Given the description of an element on the screen output the (x, y) to click on. 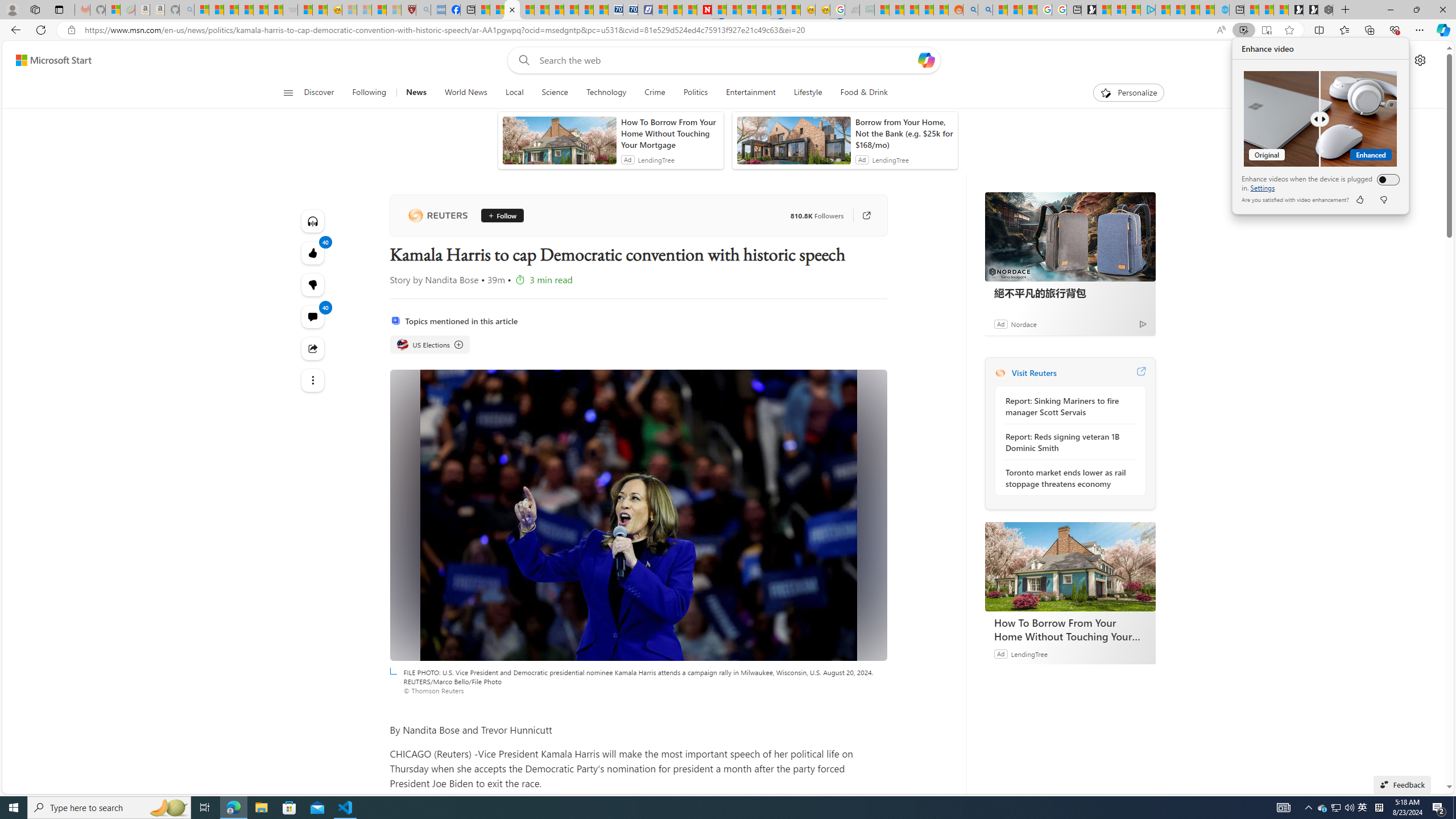
The Weather Channel - MSN (230, 9)
Student Loan Update: Forgiveness Program Ends This Month (926, 9)
dislike (1383, 199)
File Explorer (261, 807)
